Given the description of an element on the screen output the (x, y) to click on. 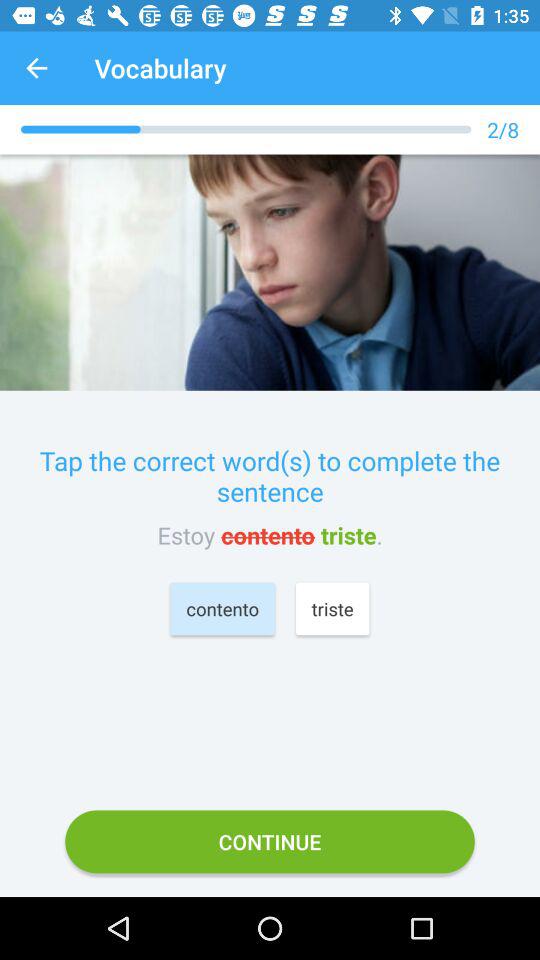
flip until the continue item (269, 841)
